Given the description of an element on the screen output the (x, y) to click on. 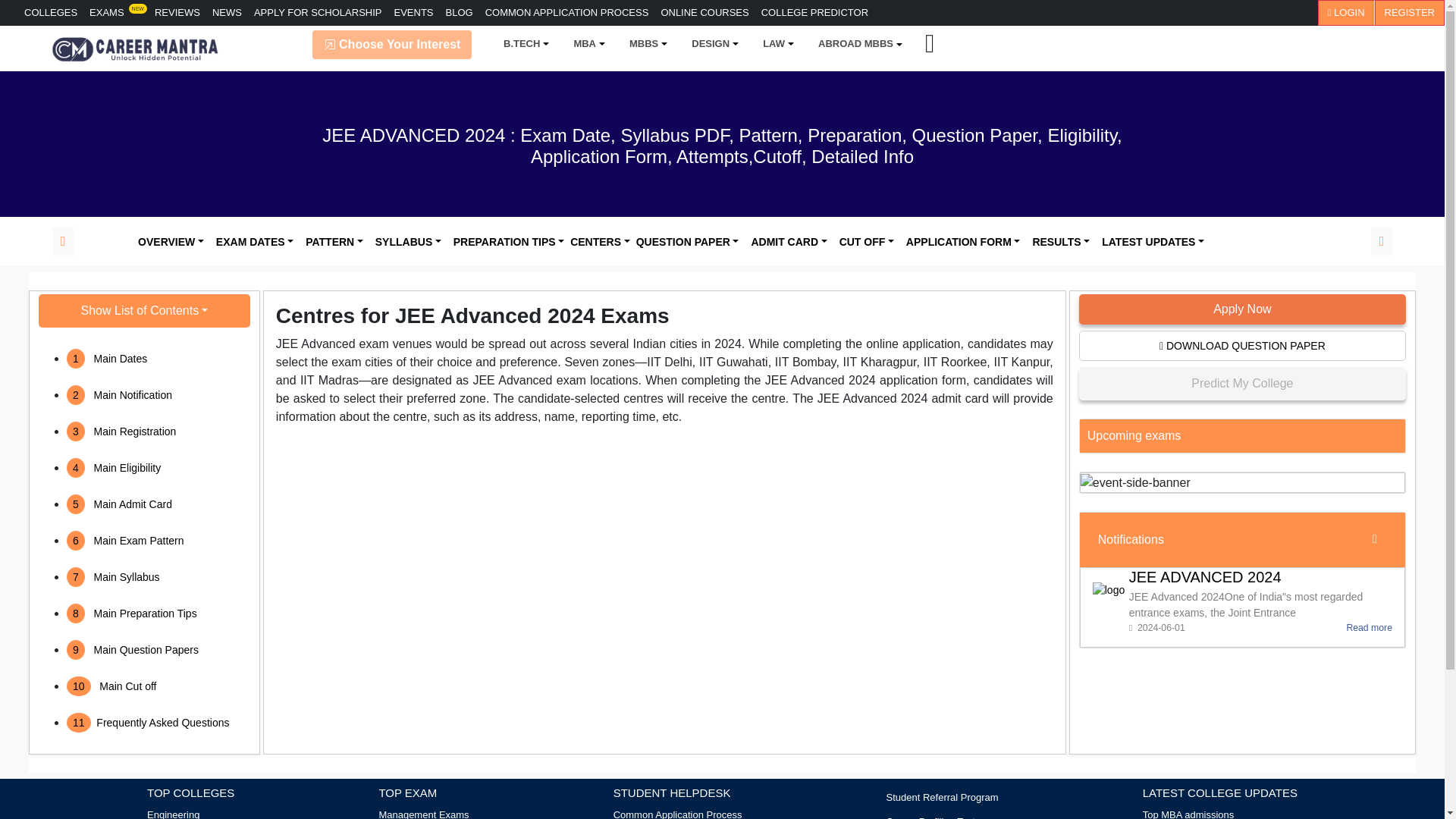
EXAMS NEW (115, 12)
ONLINE COURSES (703, 12)
EVENTS (413, 12)
COMMON APPLICATION PROCESS (567, 12)
APPLY FOR SCHOLARSHIP (317, 12)
COLLEGE PREDICTOR (815, 12)
B.TECH (521, 43)
 LOGIN (1345, 12)
COLLEGES (49, 12)
